Given the description of an element on the screen output the (x, y) to click on. 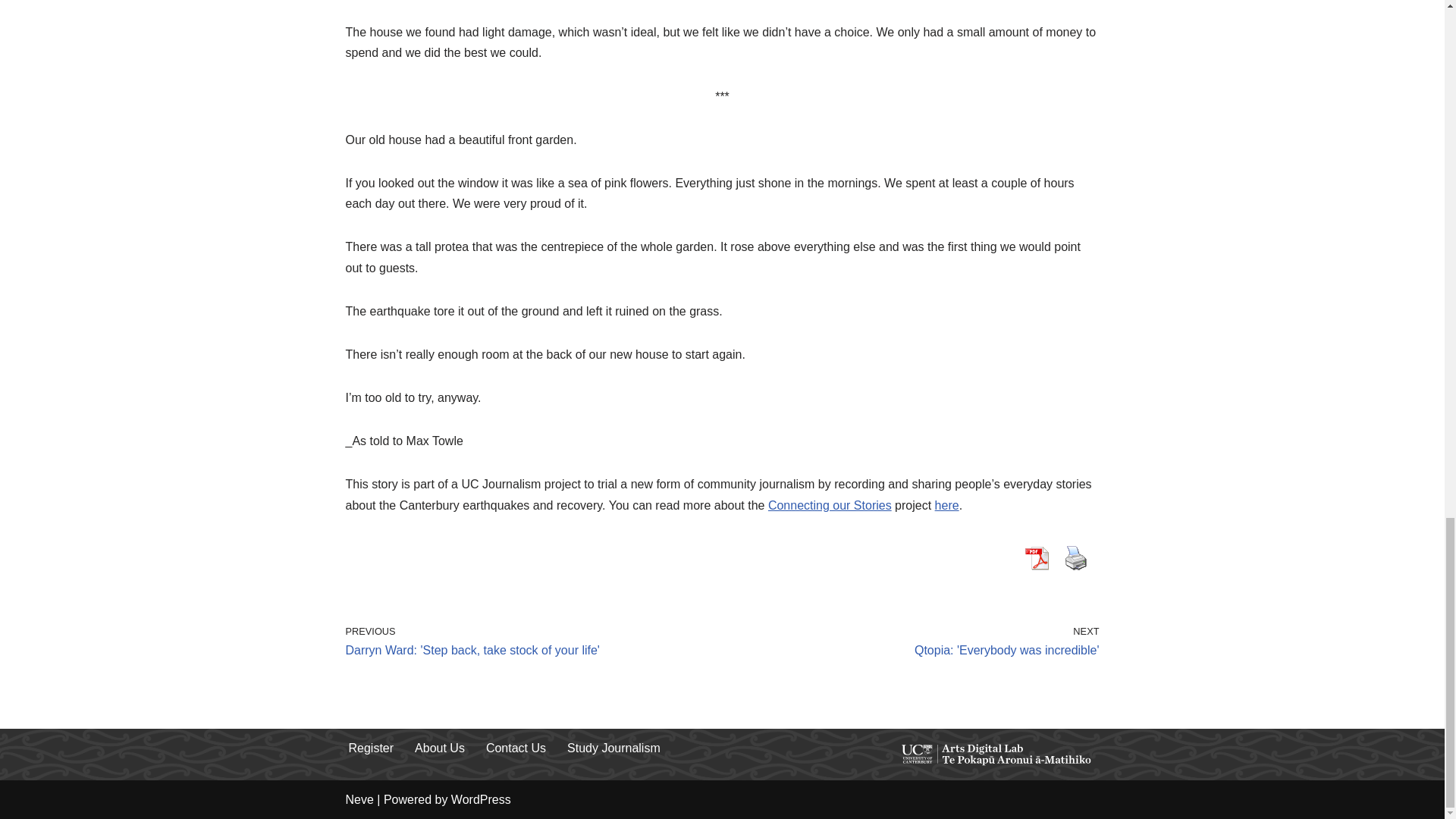
here (946, 504)
View PDF (1036, 558)
Connecting our Stories (829, 504)
Contact Us (516, 747)
WordPress (481, 799)
Register (371, 747)
Study Journalism (914, 641)
Neve (614, 747)
Print Content (360, 799)
About Us (1075, 558)
